Given the description of an element on the screen output the (x, y) to click on. 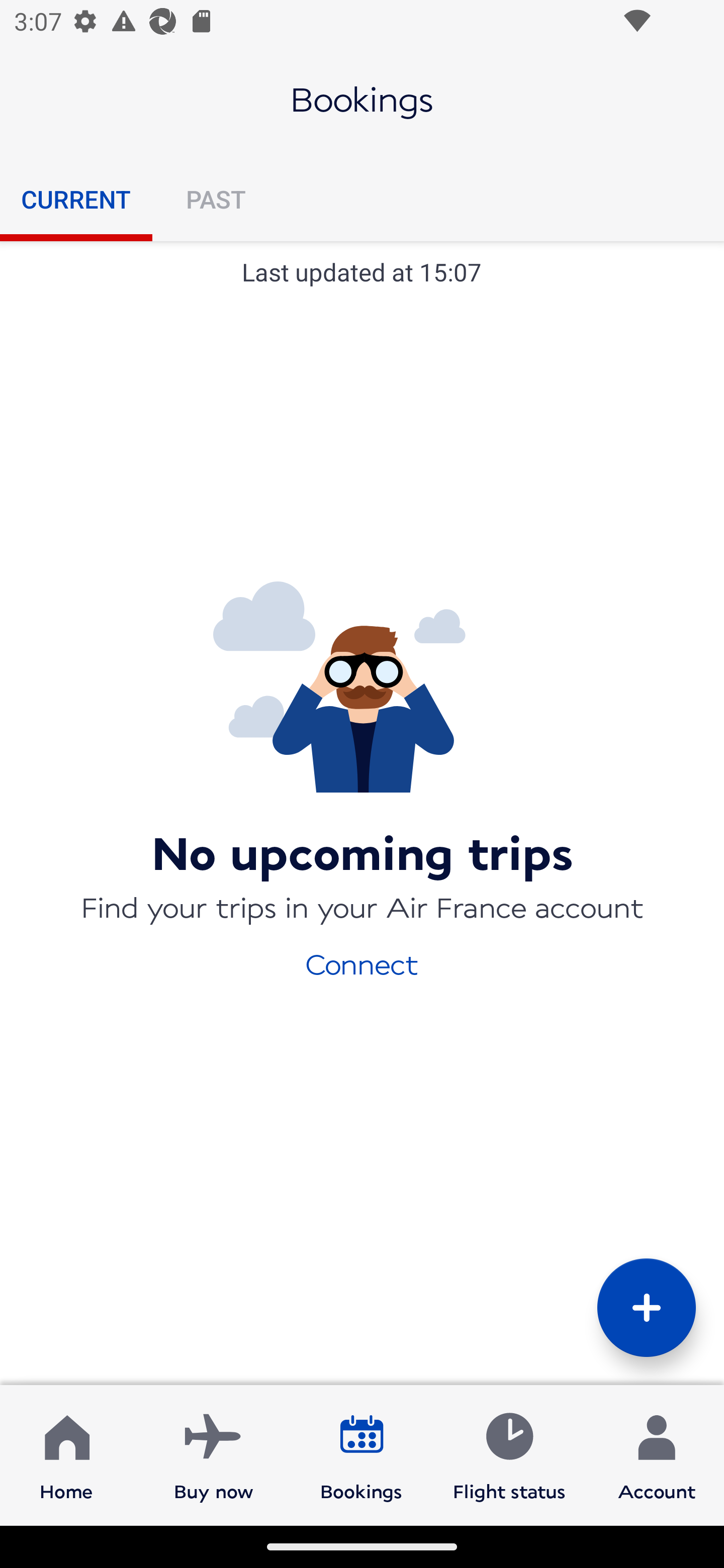
PAST (215, 198)
Connect (361, 963)
Home (66, 1454)
Buy now (213, 1454)
Flight status (509, 1454)
Account (657, 1454)
